Given the description of an element on the screen output the (x, y) to click on. 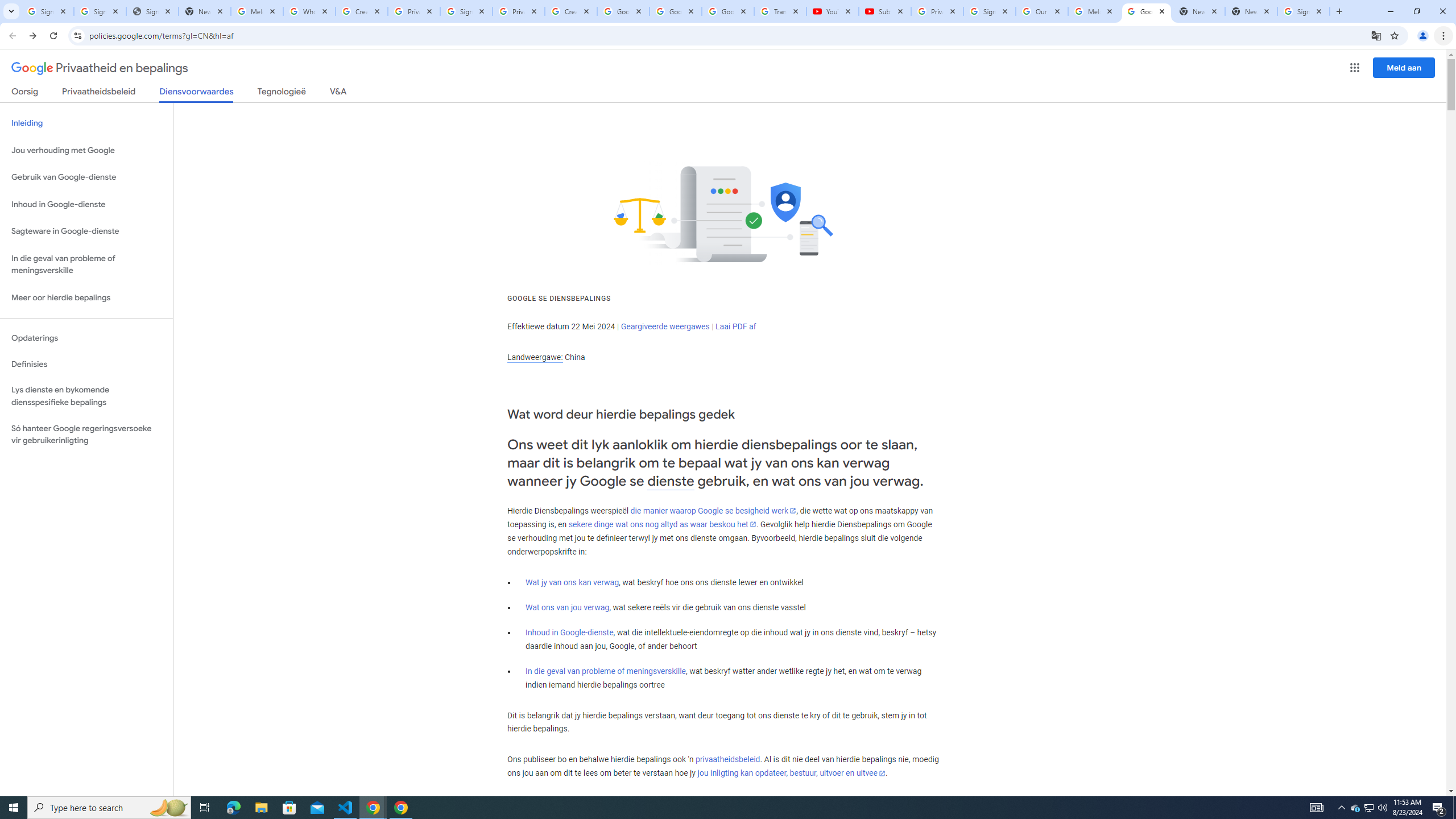
Who is my administrator? - Google Account Help (309, 11)
Landweergawe: (534, 357)
Sign in - Google Accounts (1303, 11)
Subscriptions - YouTube (884, 11)
Meld aan (1404, 67)
Meer oor hierdie bepalings (86, 298)
In die geval van probleme of meningsverskille (605, 670)
Opdaterings (86, 338)
Gebruik van Google-dienste (86, 176)
